Given the description of an element on the screen output the (x, y) to click on. 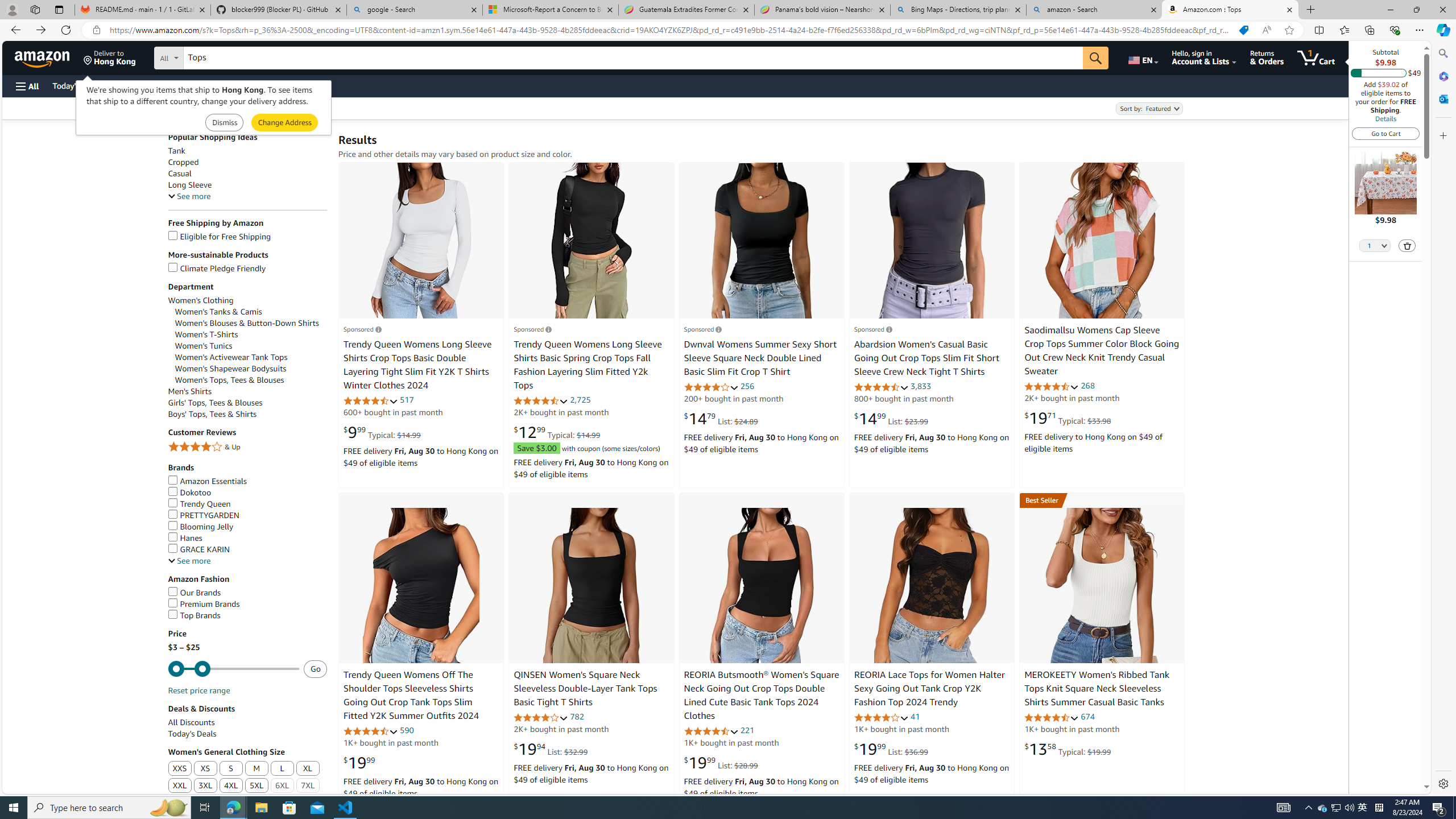
$19.99 List: $36.99 (890, 748)
3XL (204, 785)
5XL (255, 785)
Choose a language for shopping. (1142, 57)
590 (406, 729)
Today's Deals (247, 733)
Sort by: (1148, 108)
4XL (231, 786)
Amazon Essentials (247, 481)
4.4 out of 5 stars (1051, 386)
